Given the description of an element on the screen output the (x, y) to click on. 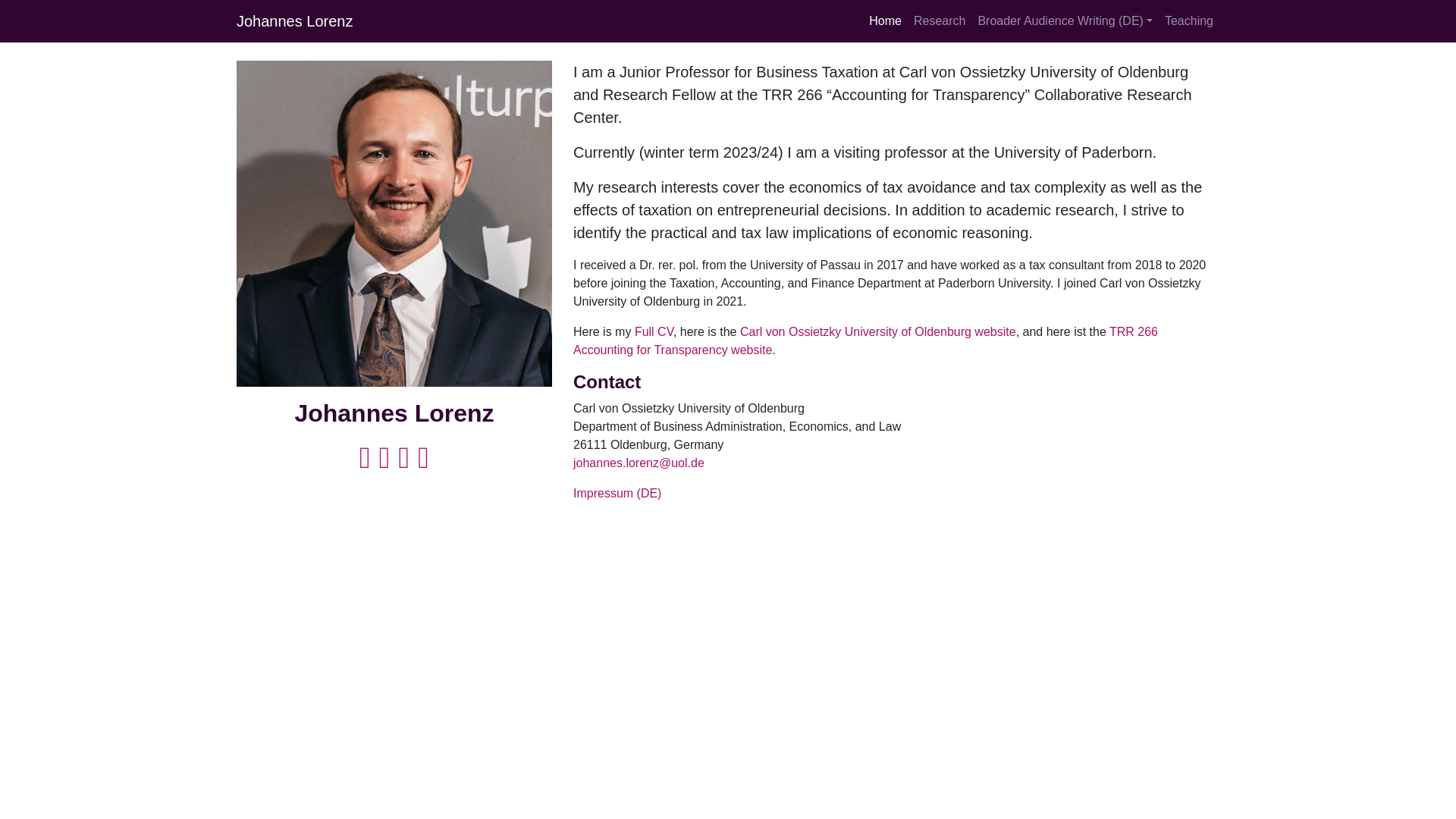
TRR 266 Accounting for Transparency website (865, 340)
Full CV (653, 331)
Home (885, 20)
Teaching (1189, 20)
Research (939, 20)
Carl von Ossietzky University of Oldenburg website (877, 331)
Johannes Lorenz (293, 20)
